Given the description of an element on the screen output the (x, y) to click on. 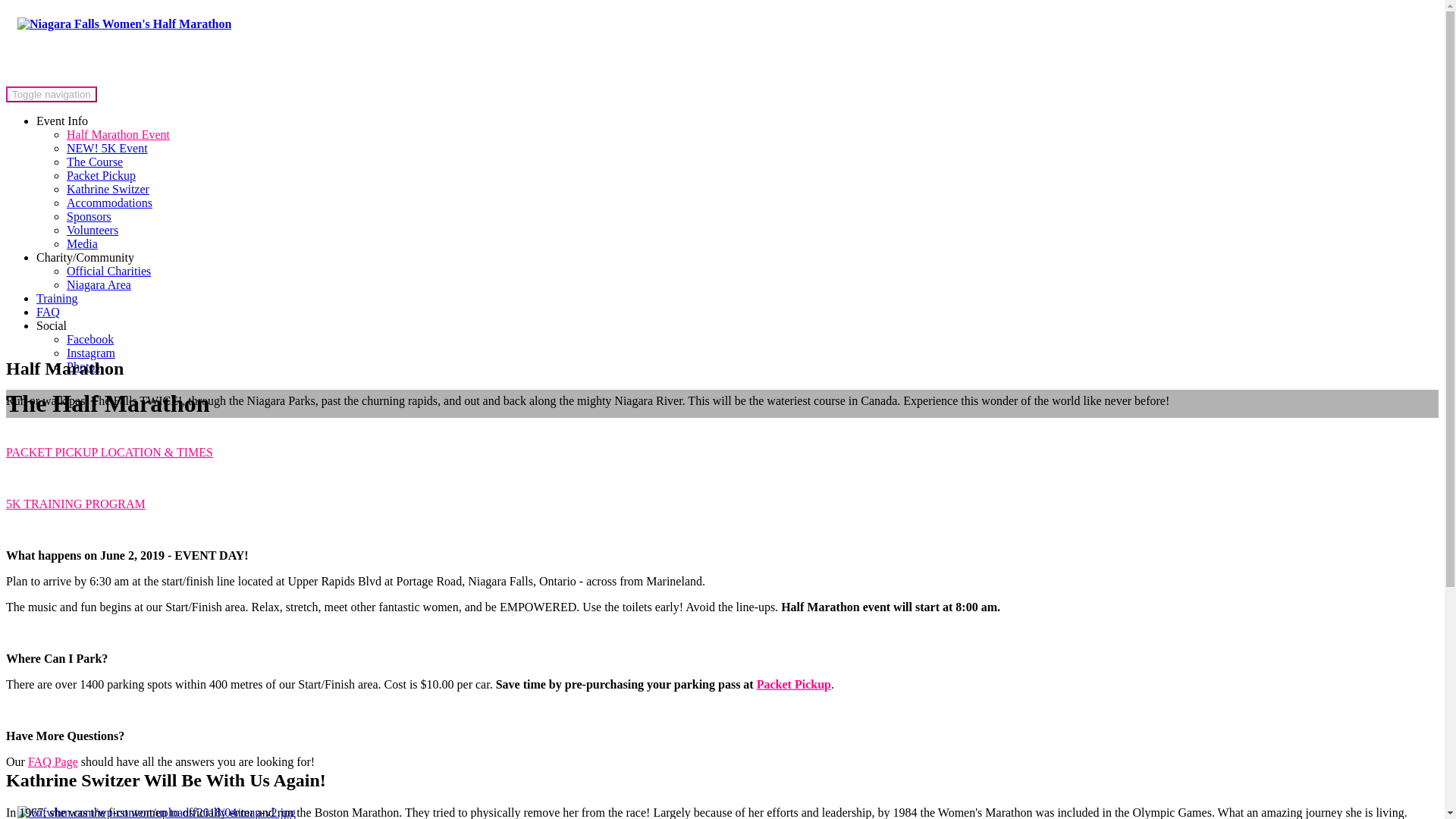
Official Charities (108, 270)
Register Today (42, 78)
FAQ Page (52, 761)
Half Marathon Event (118, 133)
Packet Pickup (100, 174)
Media (81, 243)
Sponsors (89, 215)
Event Info (61, 120)
Accommodations (109, 202)
5K TRAINING PROGRAM (75, 503)
Instagram (90, 352)
Volunteers (91, 229)
FAQ (47, 311)
Facebook (89, 338)
Niagara Area (98, 284)
